Given the description of an element on the screen output the (x, y) to click on. 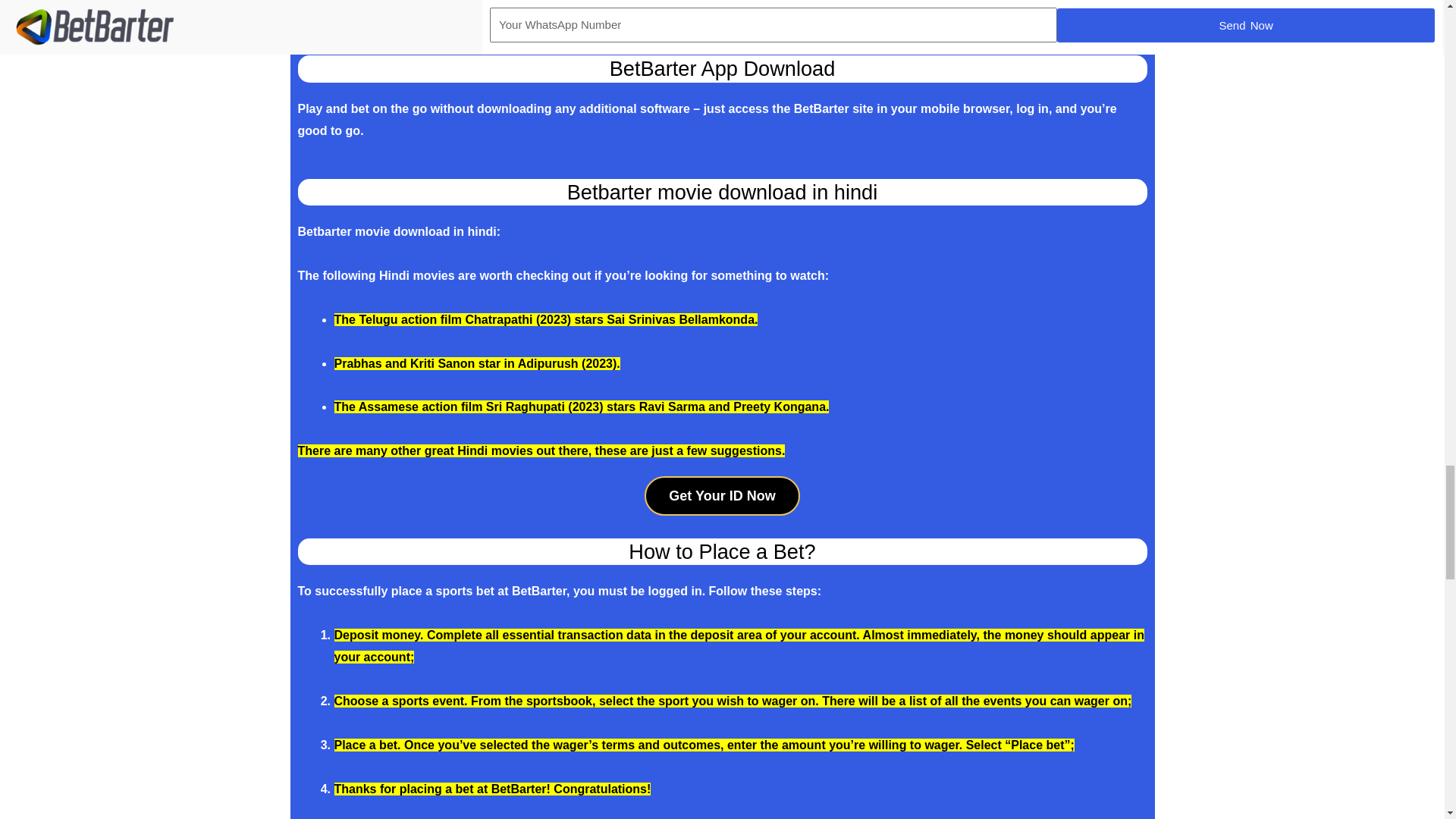
Get Your ID Now (722, 495)
